Given the description of an element on the screen output the (x, y) to click on. 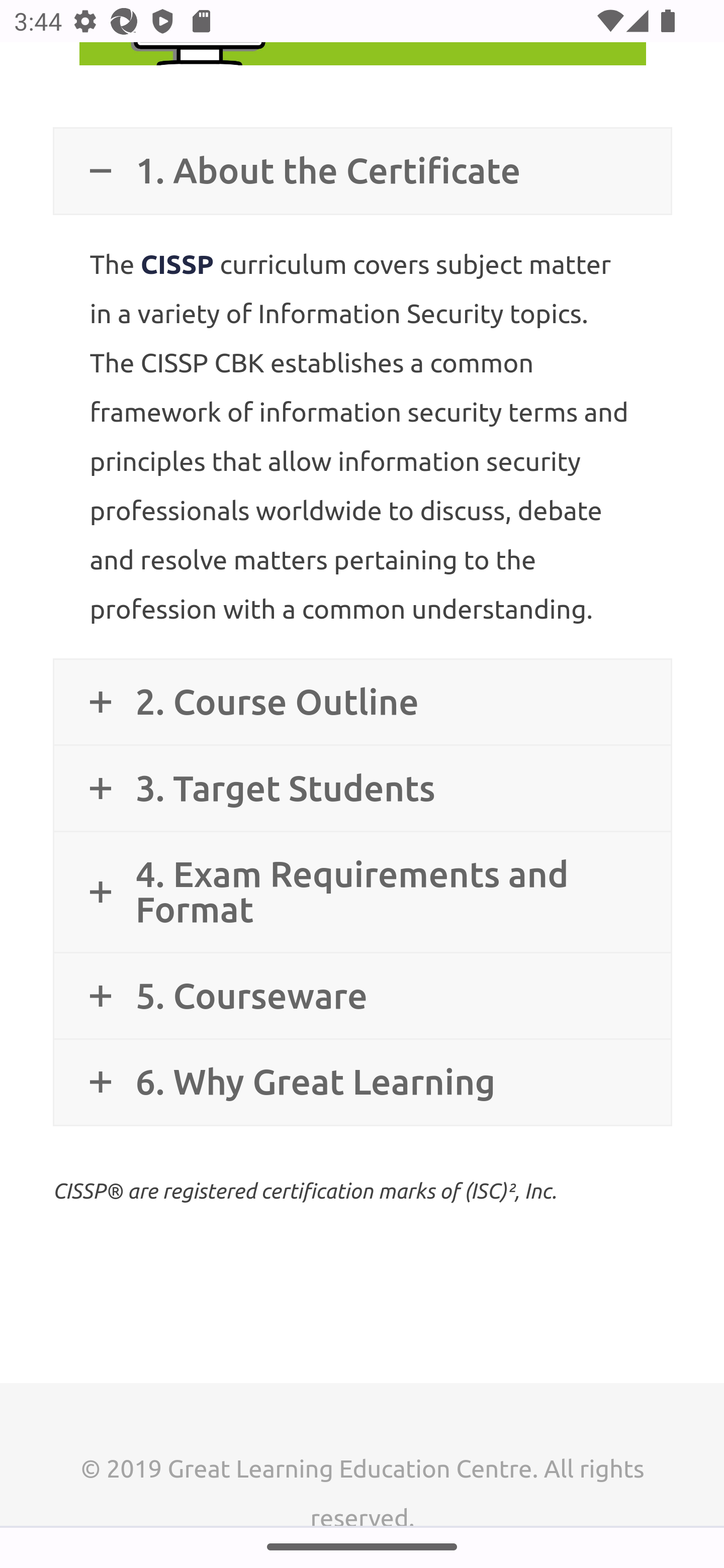
5. Courseware 5. Courseware 5. Courseware (361, 996)
